Given the description of an element on the screen output the (x, y) to click on. 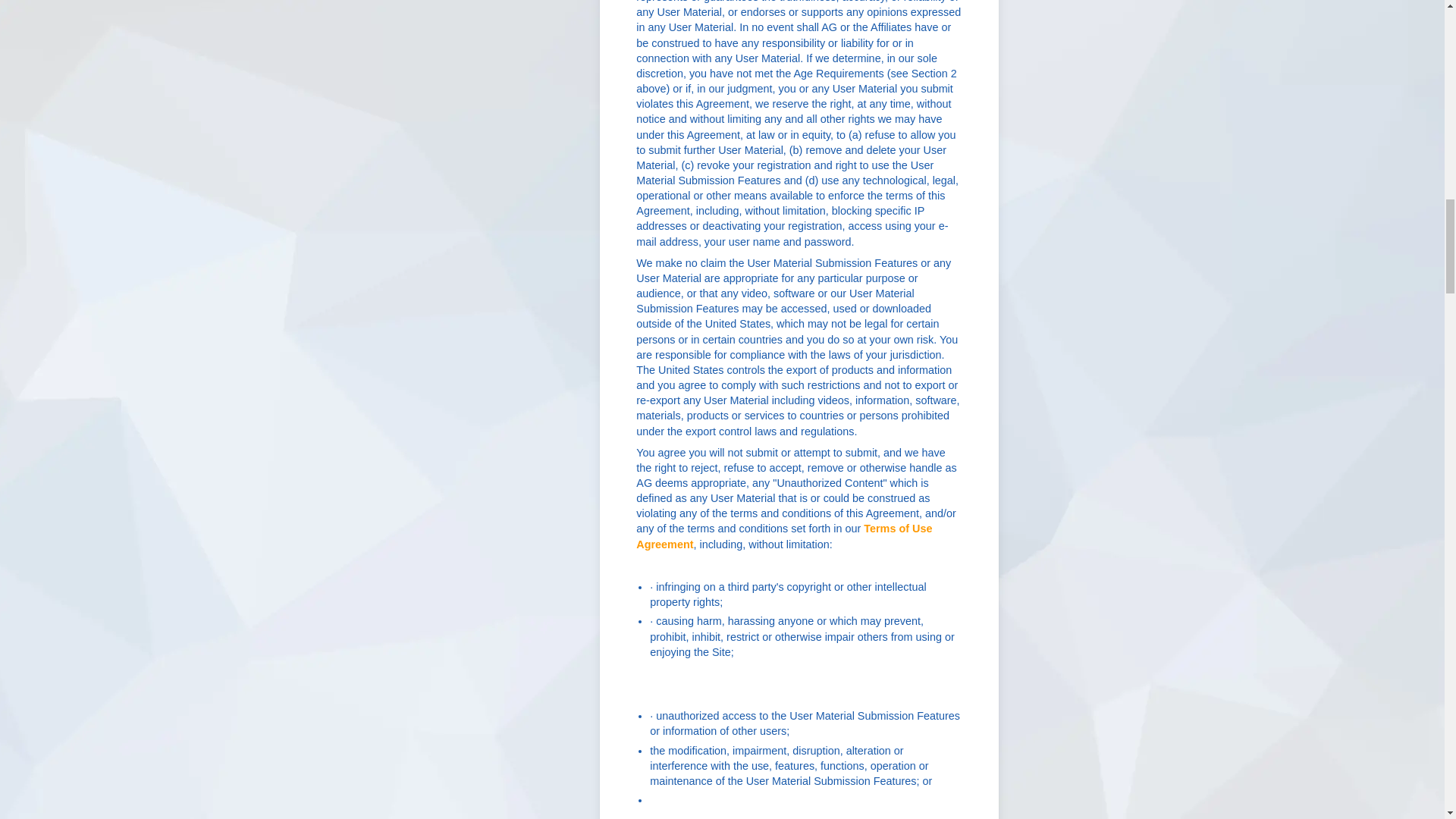
Terms of Use Agreement (783, 535)
